Given the description of an element on the screen output the (x, y) to click on. 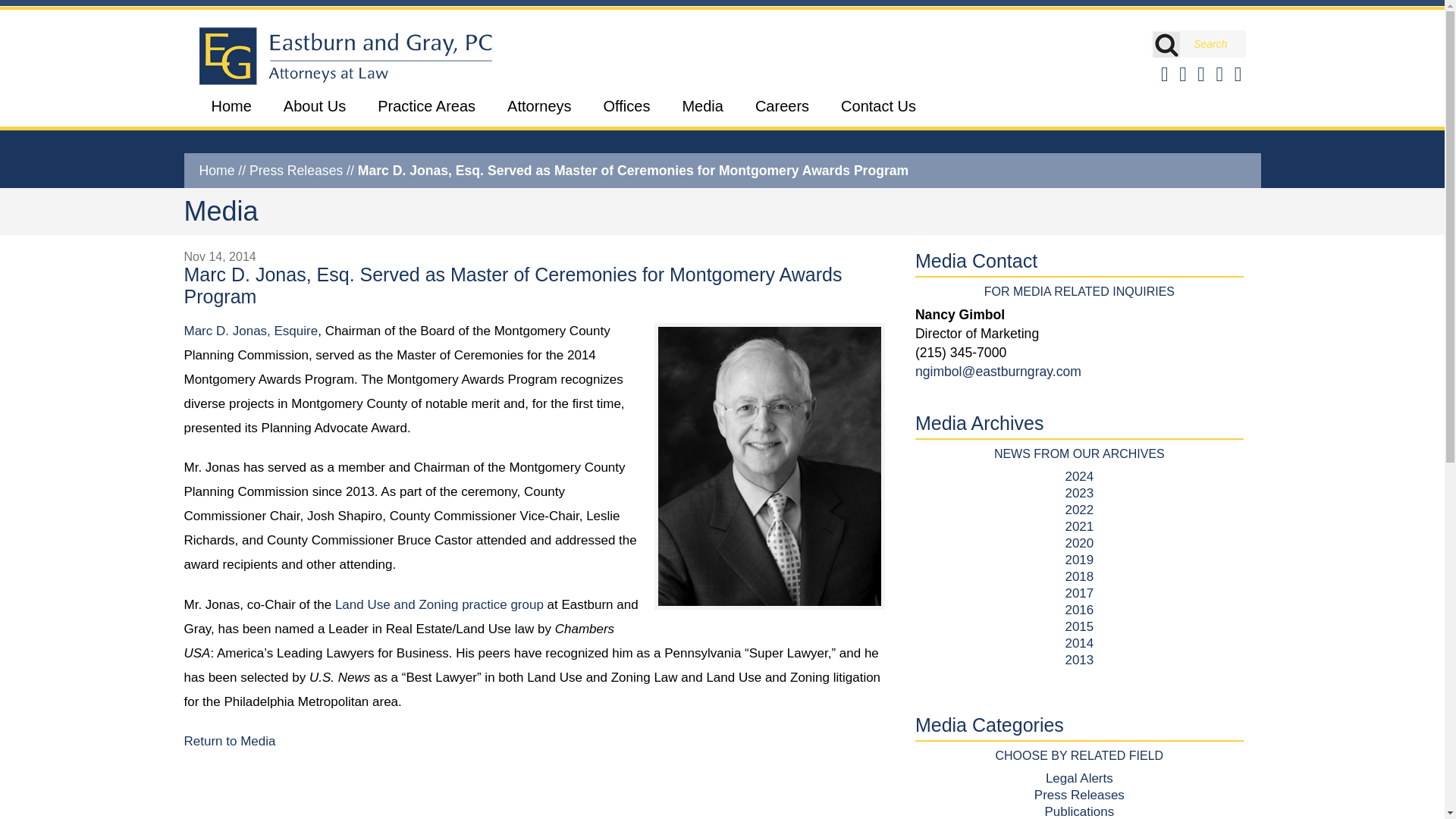
Media (702, 111)
Home (216, 170)
Home (230, 111)
Land Use and Zoning (438, 604)
Offices (626, 111)
Marc D. Jonas (250, 330)
Contact Us (878, 111)
About Us (314, 111)
Press Releases (295, 170)
Careers (781, 111)
